Given the description of an element on the screen output the (x, y) to click on. 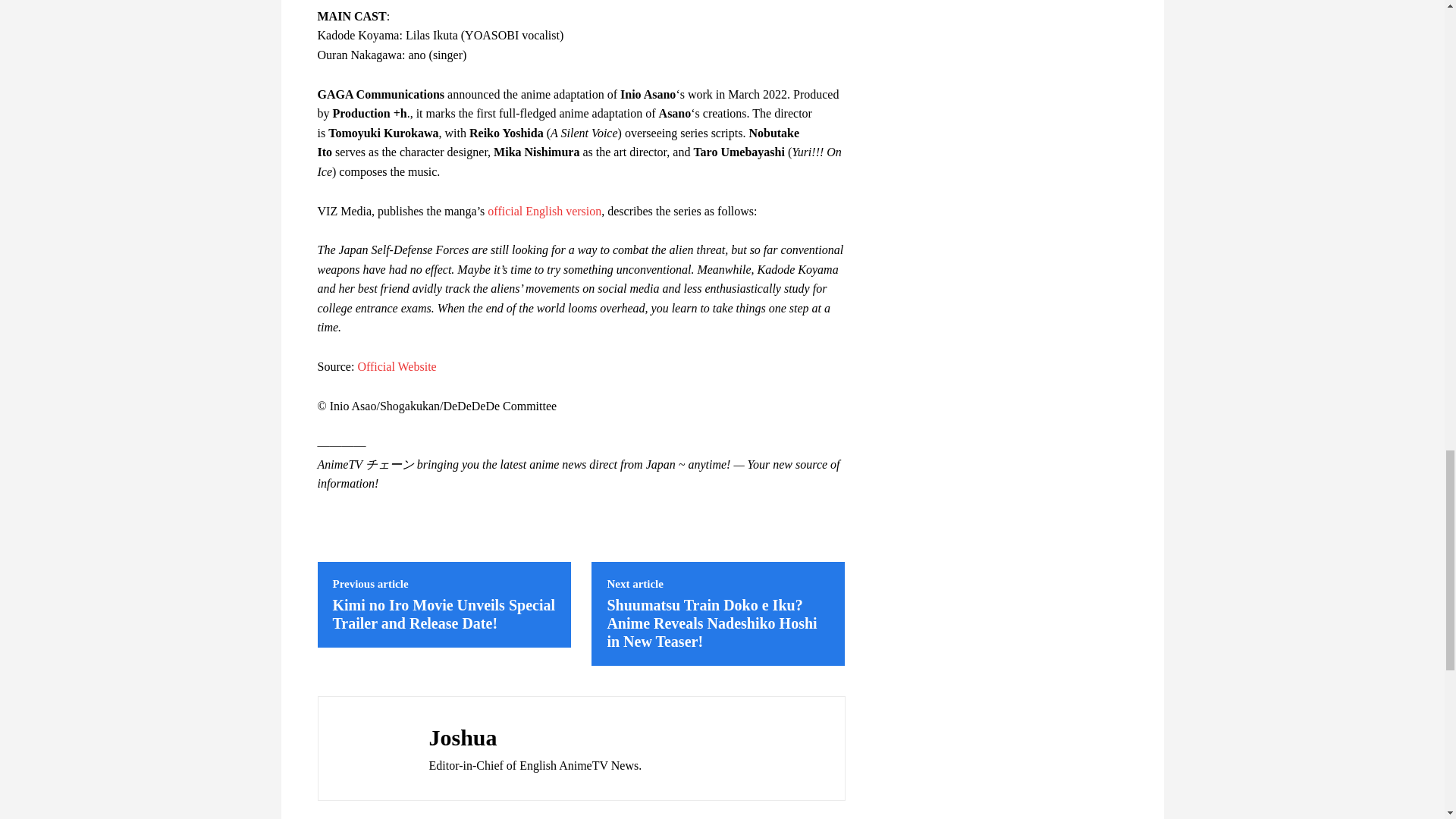
official English version (544, 210)
Joshua (369, 747)
Joshua (535, 737)
Official Website (395, 366)
Kimi no Iro Movie Unveils Special Trailer and Release Date! (442, 614)
